Given the description of an element on the screen output the (x, y) to click on. 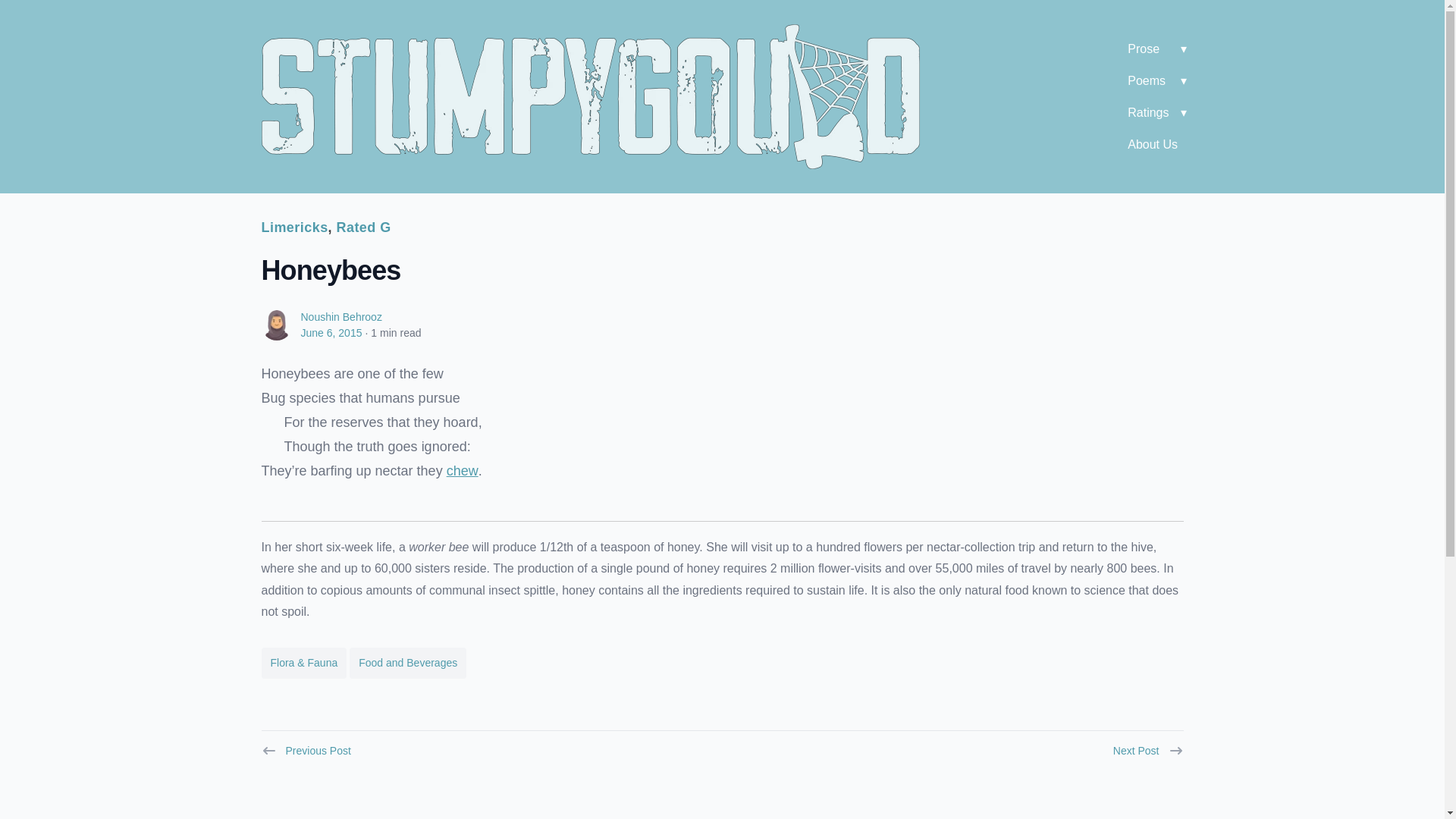
Poems (1154, 81)
Prose (1154, 49)
Limericks (293, 227)
Previous Post (305, 744)
Ratings (1154, 112)
June 6, 2015 (330, 332)
Noushin Behrooz (340, 316)
chew (462, 470)
Next Post (1148, 744)
Rated G (363, 227)
Food and Beverages (407, 662)
About Us (1154, 144)
